Given the description of an element on the screen output the (x, y) to click on. 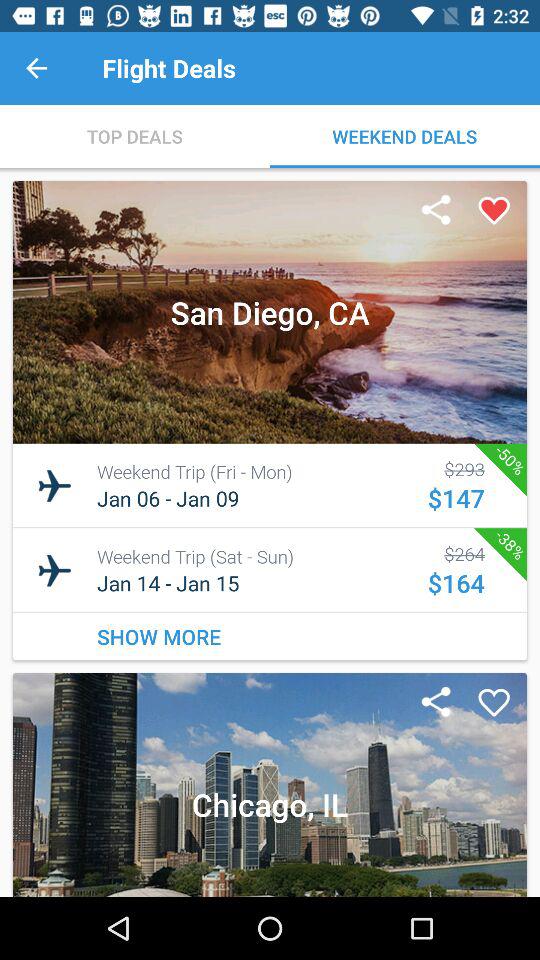
click arrow to go to previous page or screen (36, 68)
